Given the description of an element on the screen output the (x, y) to click on. 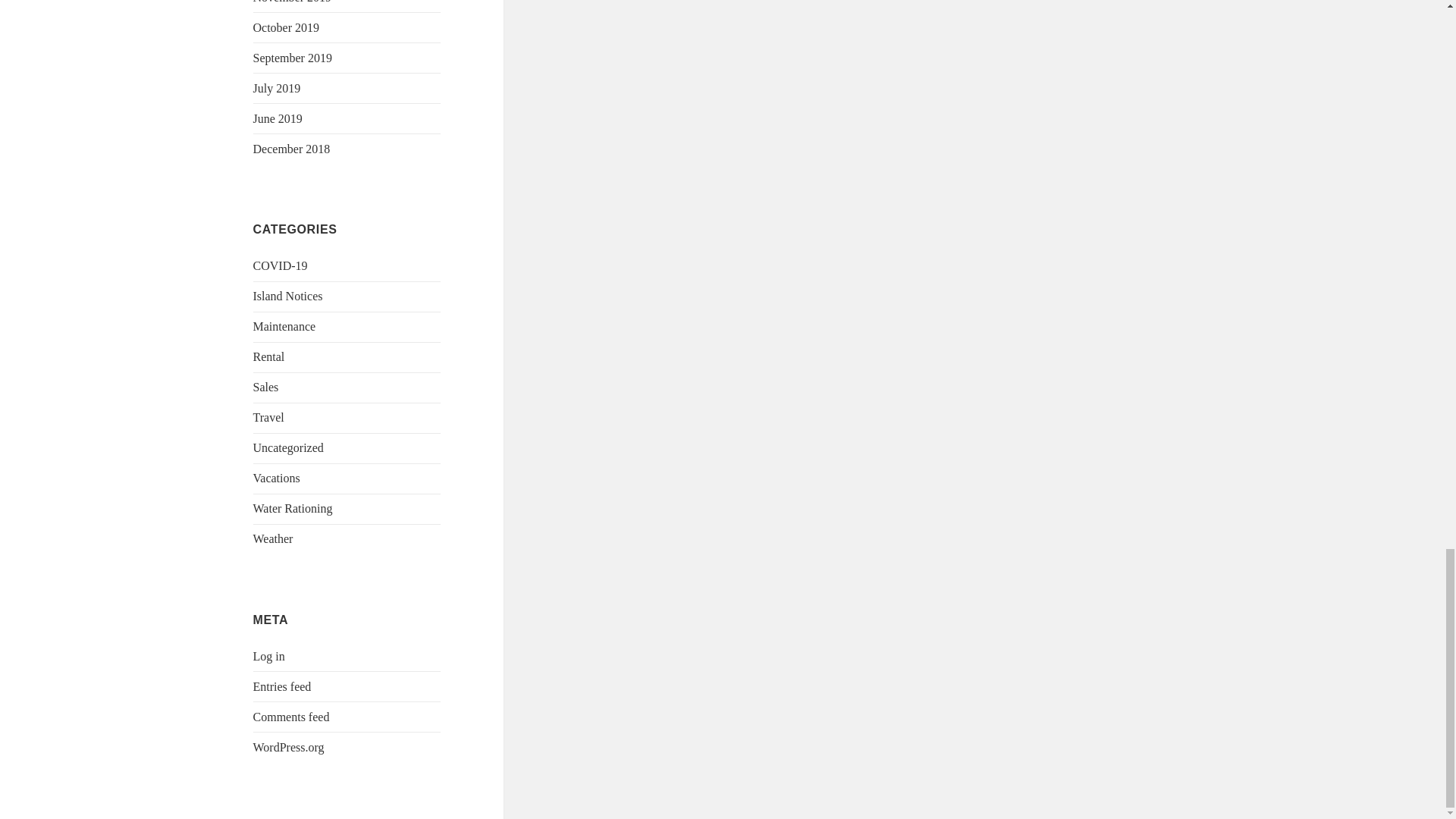
October 2019 (286, 27)
June 2019 (277, 118)
December 2018 (291, 148)
November 2019 (292, 2)
September 2019 (292, 57)
July 2019 (277, 88)
